Given the description of an element on the screen output the (x, y) to click on. 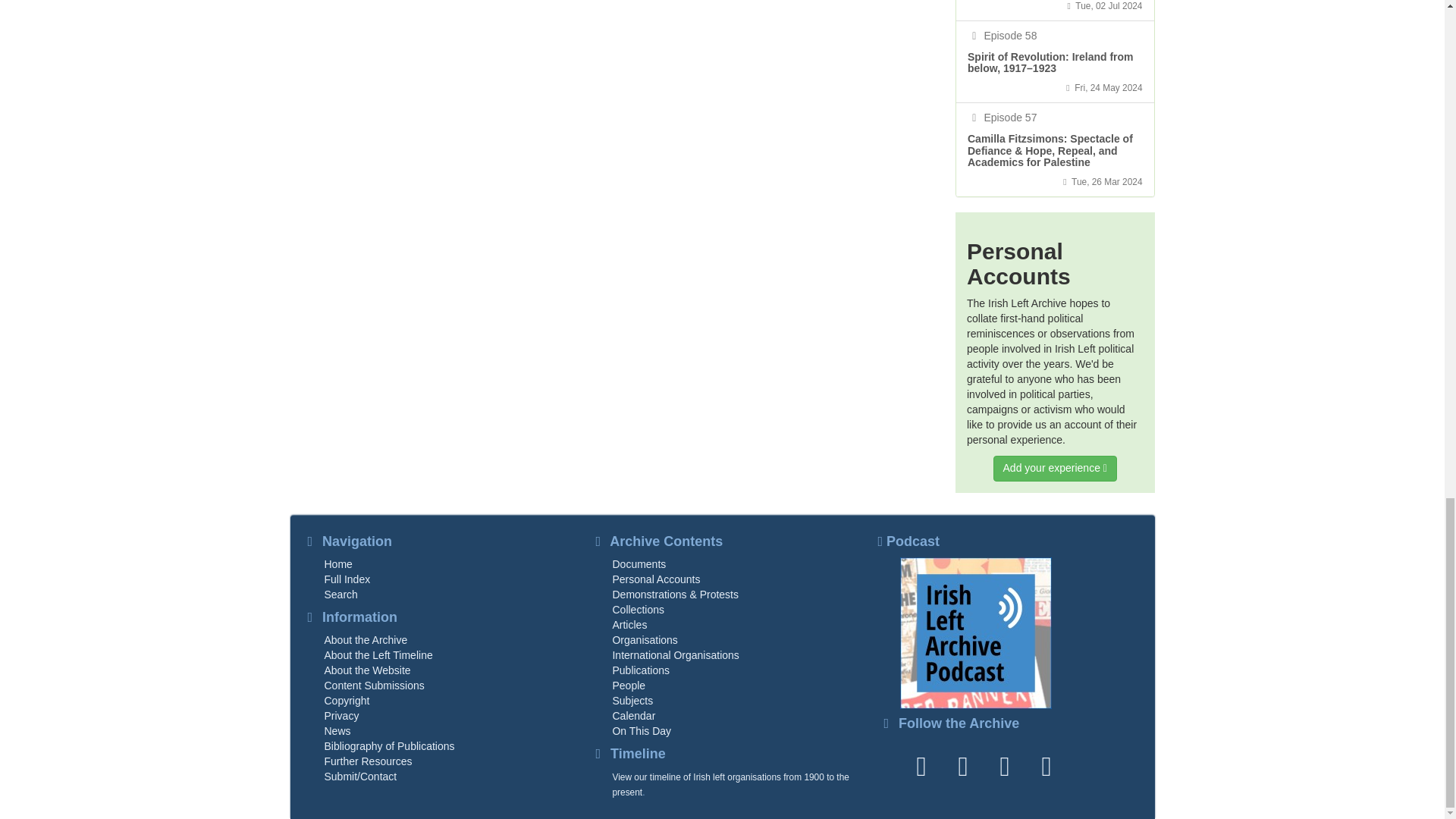
Privacy information (341, 715)
Return to the home page (338, 563)
Other online archives (368, 761)
Browse the full index (347, 579)
Browse all political documents (638, 563)
Bibliography of Irish left publications (389, 746)
Latest updates on the Irish Left Archive project (337, 730)
About the CLR Irish Left Archive (365, 639)
About the Timeline of the Irish Left (378, 654)
About the Website (367, 670)
